Given the description of an element on the screen output the (x, y) to click on. 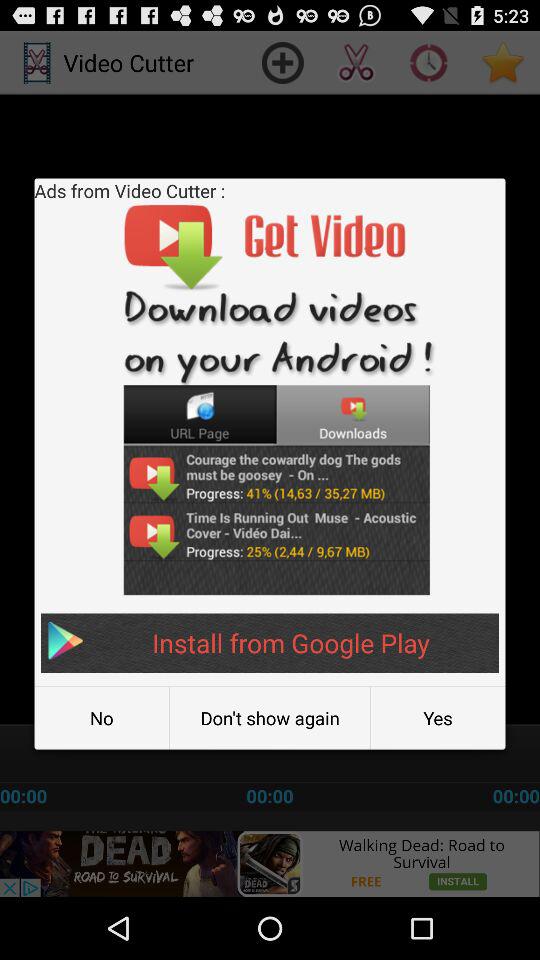
flip until install from google item (269, 642)
